Given the description of an element on the screen output the (x, y) to click on. 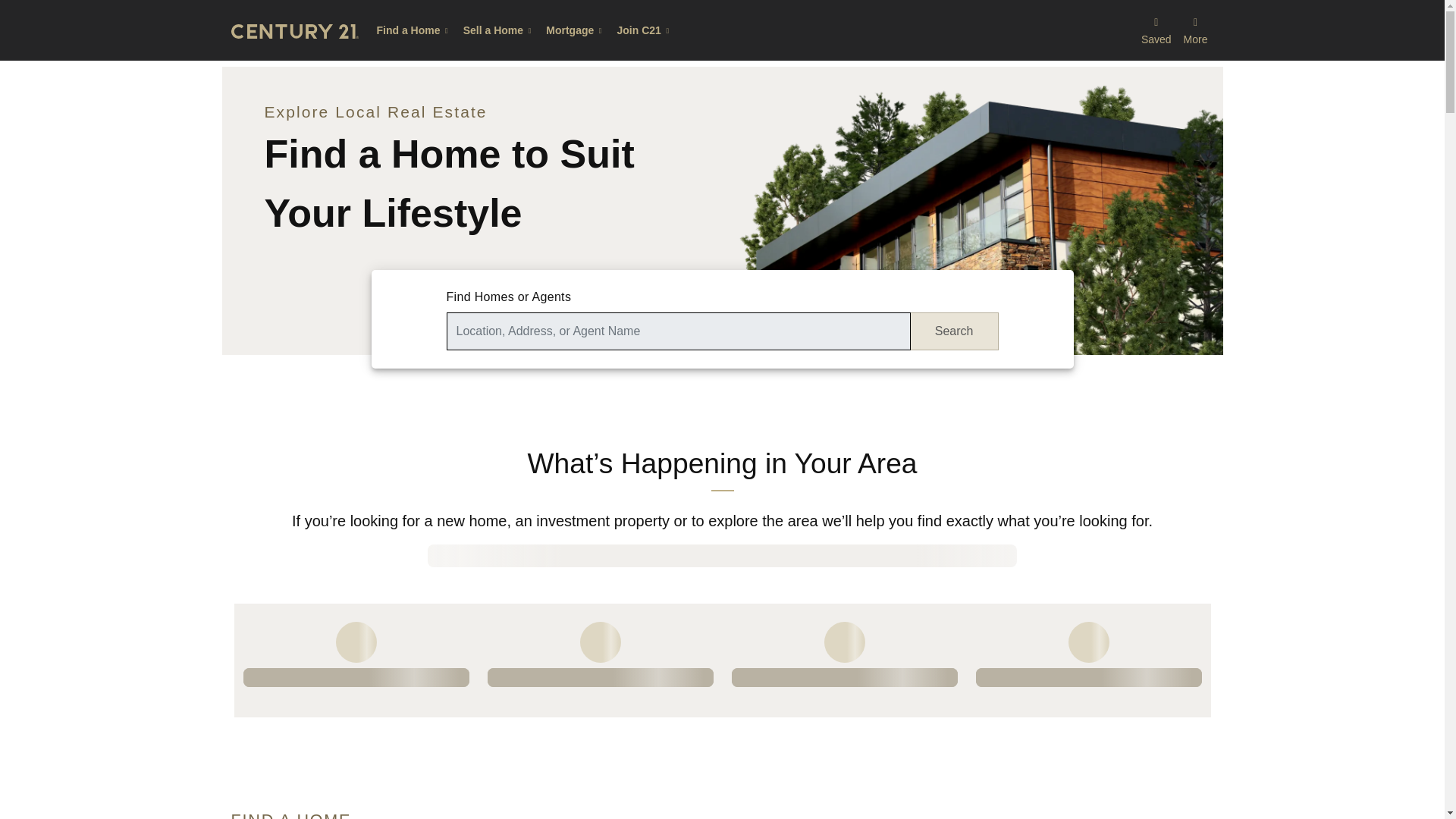
Saved (1156, 30)
Mortgage (575, 30)
Join C21 (644, 30)
Sell a Home (498, 30)
Find a Home (413, 30)
